Given the description of an element on the screen output the (x, y) to click on. 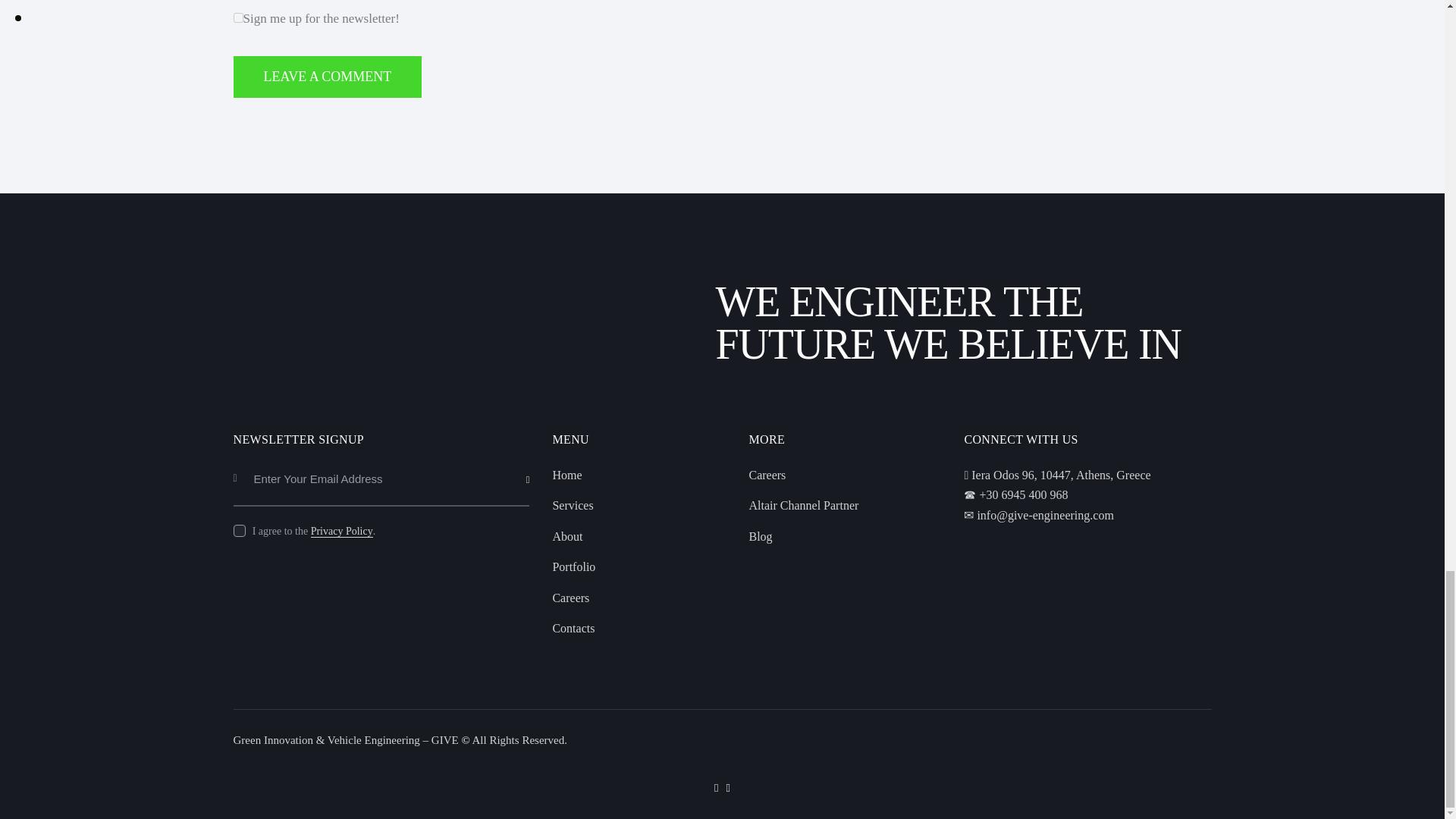
1 (237, 17)
Leave a comment (327, 76)
1 (533, 458)
Leave a comment (327, 76)
